Given the description of an element on the screen output the (x, y) to click on. 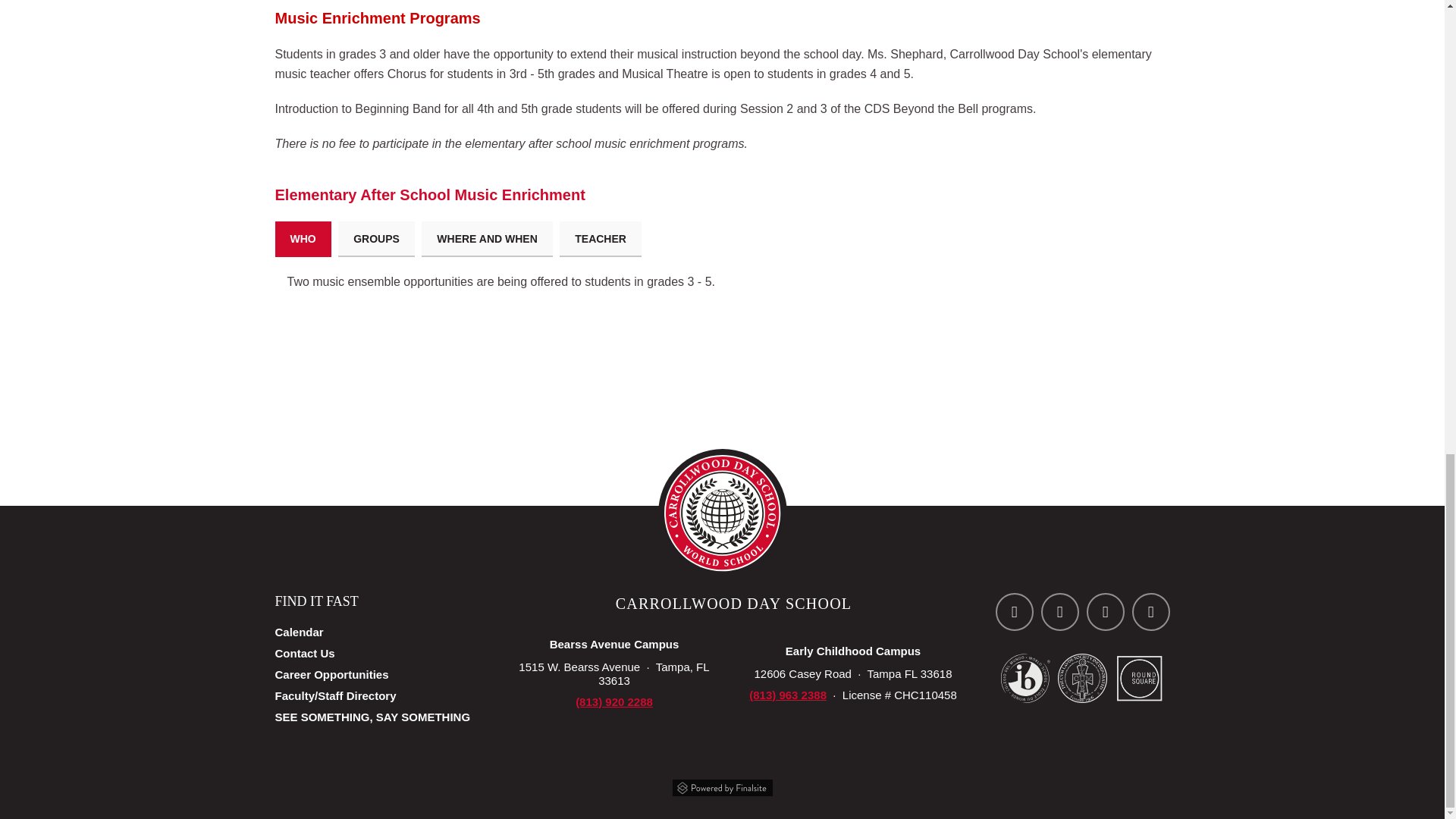
Powered by Finalsite opens in a new window (721, 785)
